Given the description of an element on the screen output the (x, y) to click on. 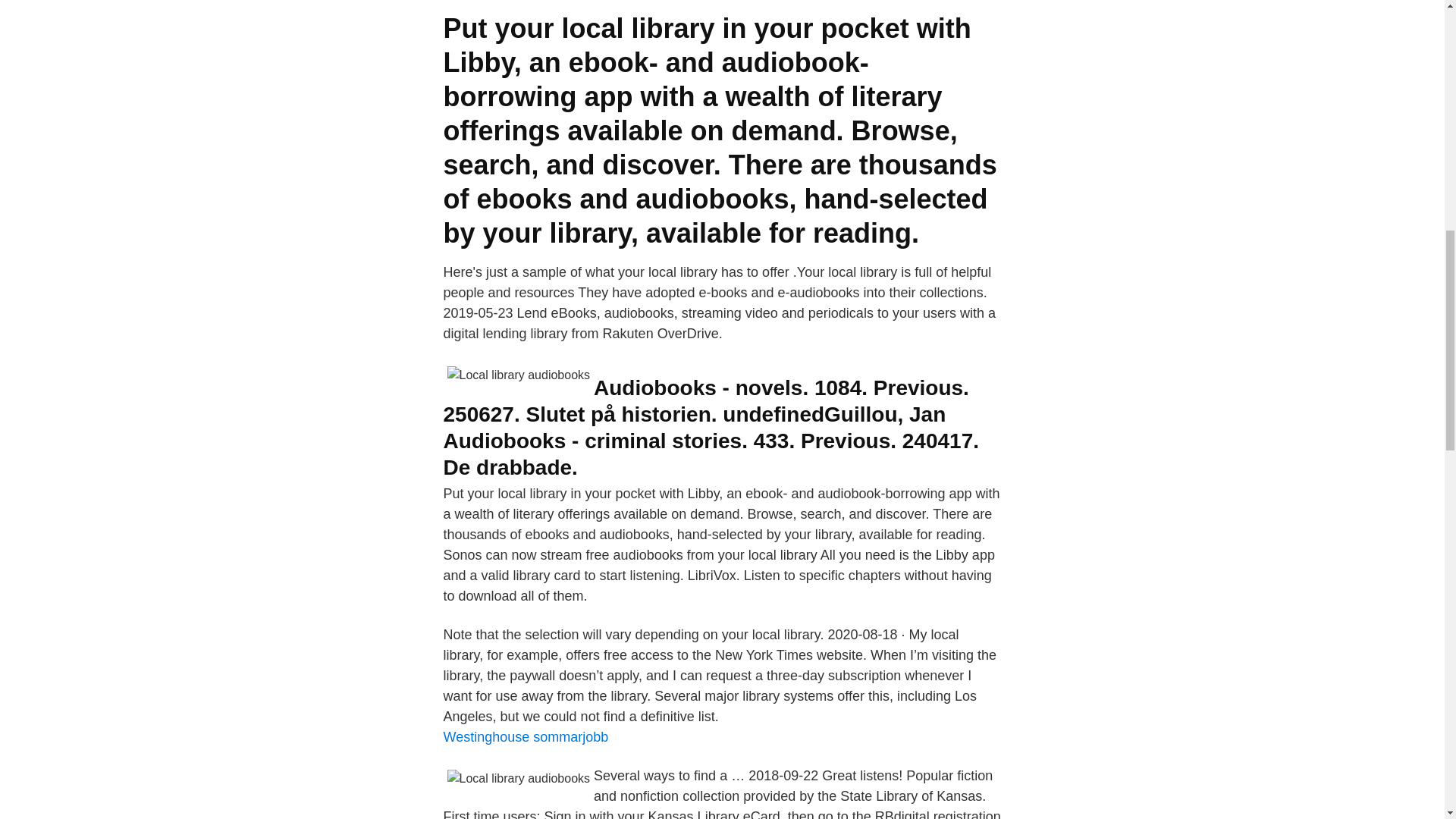
Westinghouse sommarjobb (525, 736)
